Given the description of an element on the screen output the (x, y) to click on. 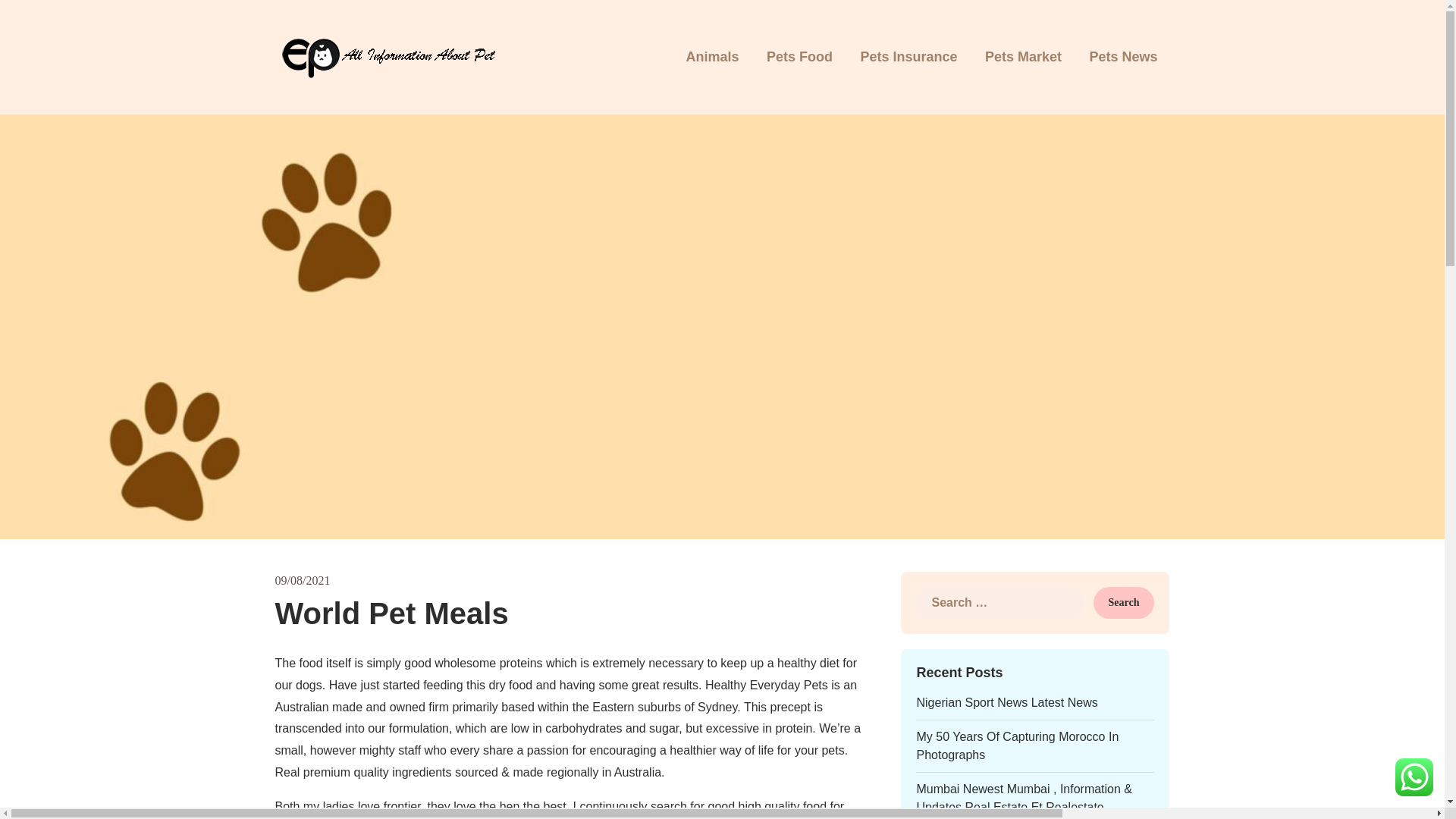
Nigerian Sport News Latest News (1006, 702)
My 50 Years Of Capturing Morocco In Photographs (1016, 745)
Search (1123, 603)
Search (1123, 603)
EP (982, 68)
Pets Food (799, 57)
Search (1123, 603)
Pets News (1123, 57)
Pets Insurance (908, 57)
Animals (711, 57)
Pets Market (1023, 57)
